Given the description of an element on the screen output the (x, y) to click on. 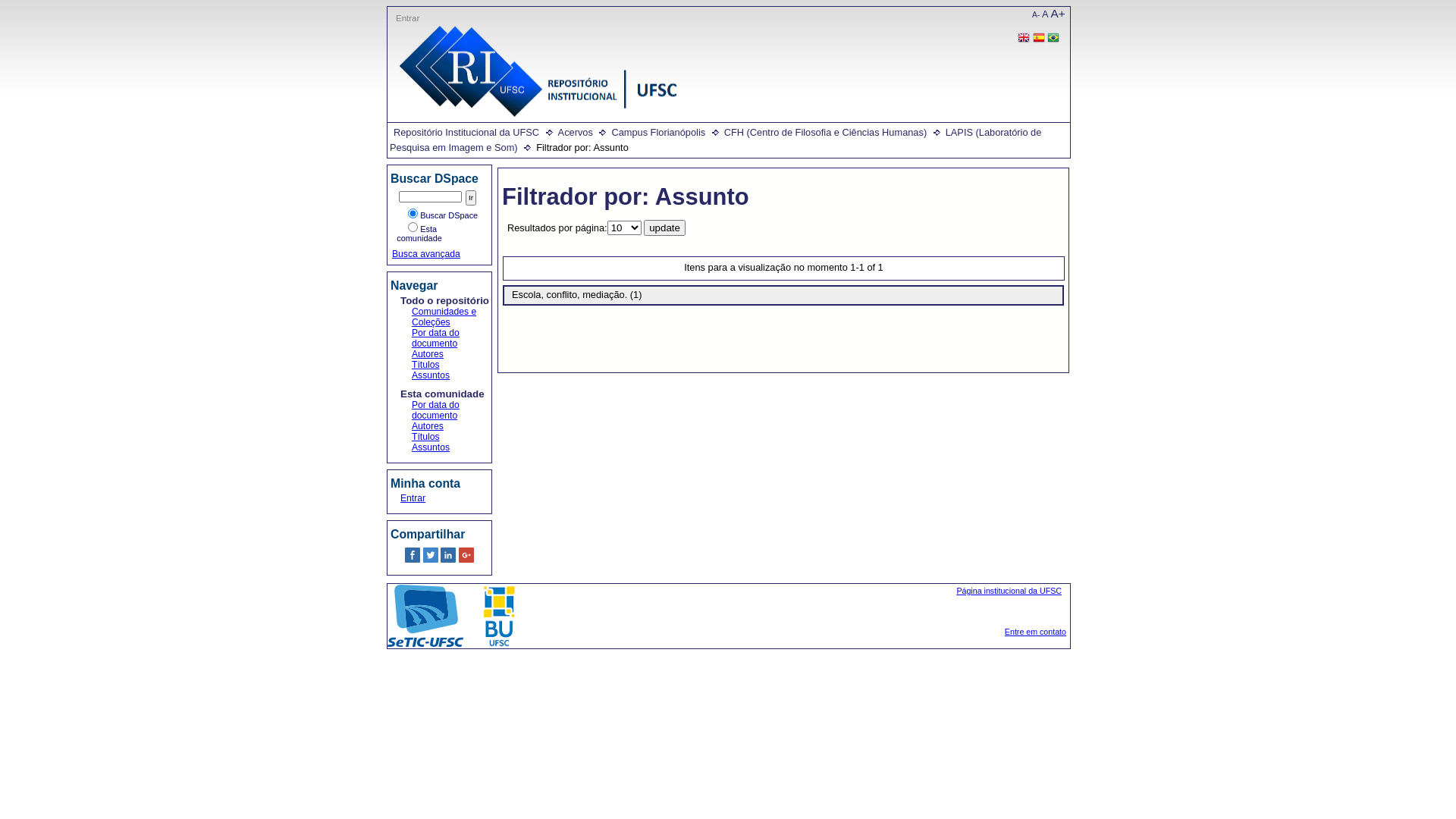
Entrar Element type: text (407, 17)
Assuntos Element type: text (430, 447)
Ir Element type: text (470, 197)
Entrar Element type: text (412, 497)
Entre em contato Element type: text (1035, 631)
Autores Element type: text (427, 425)
A Element type: text (1044, 13)
Por data do documento Element type: text (435, 337)
0 Element type: text (413, 559)
A+ Element type: text (1058, 12)
Acervos Element type: text (575, 132)
A- Element type: text (1035, 14)
Por data do documento Element type: text (435, 409)
Assuntos Element type: text (430, 375)
0 Element type: text (465, 559)
Autores Element type: text (427, 353)
update Element type: text (664, 227)
0 Element type: text (449, 559)
0 Element type: text (431, 559)
